Given the description of an element on the screen output the (x, y) to click on. 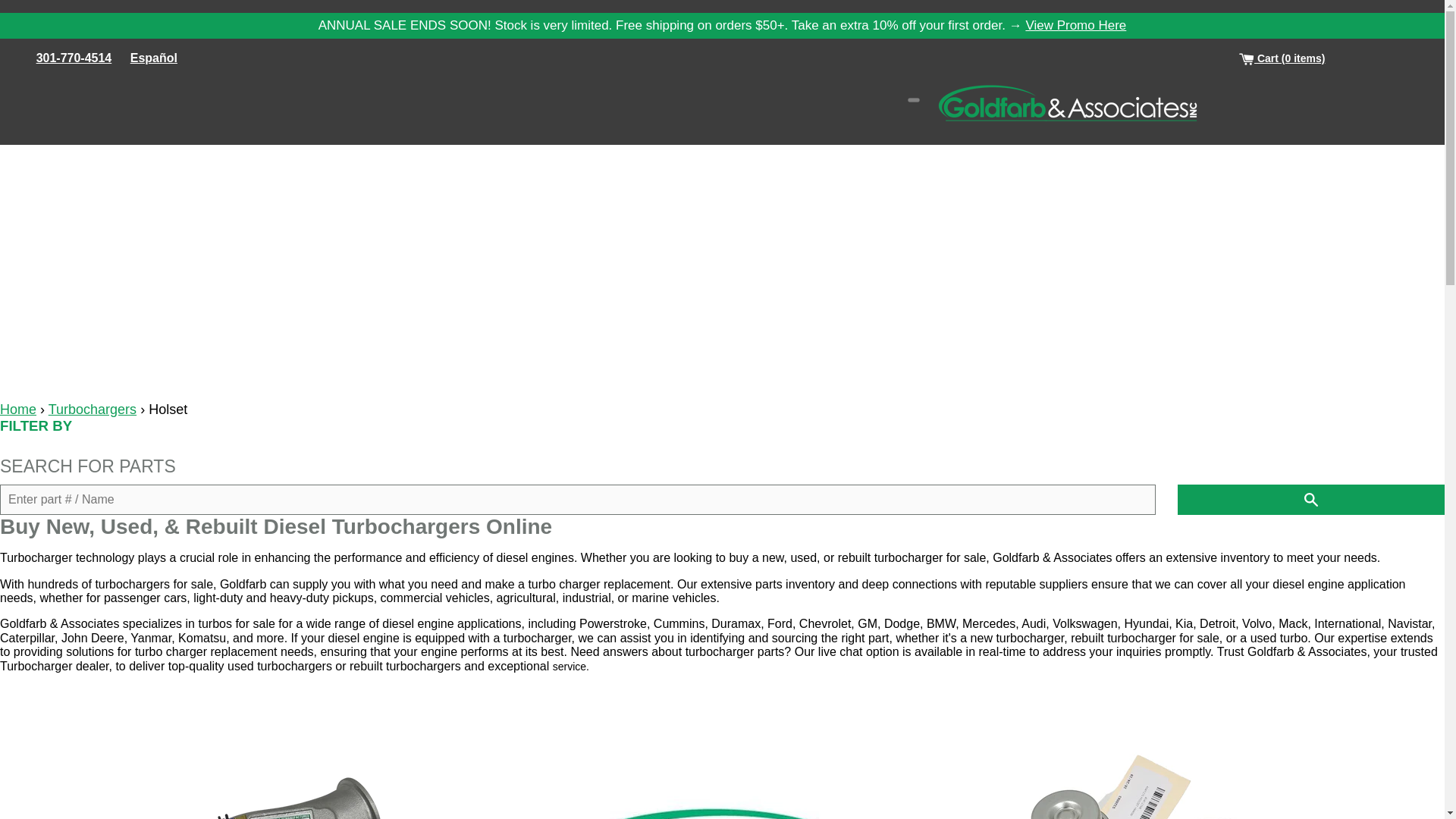
301-770-4514 (74, 57)
Toggle navigation (912, 99)
View Promo Here (1075, 25)
